Given the description of an element on the screen output the (x, y) to click on. 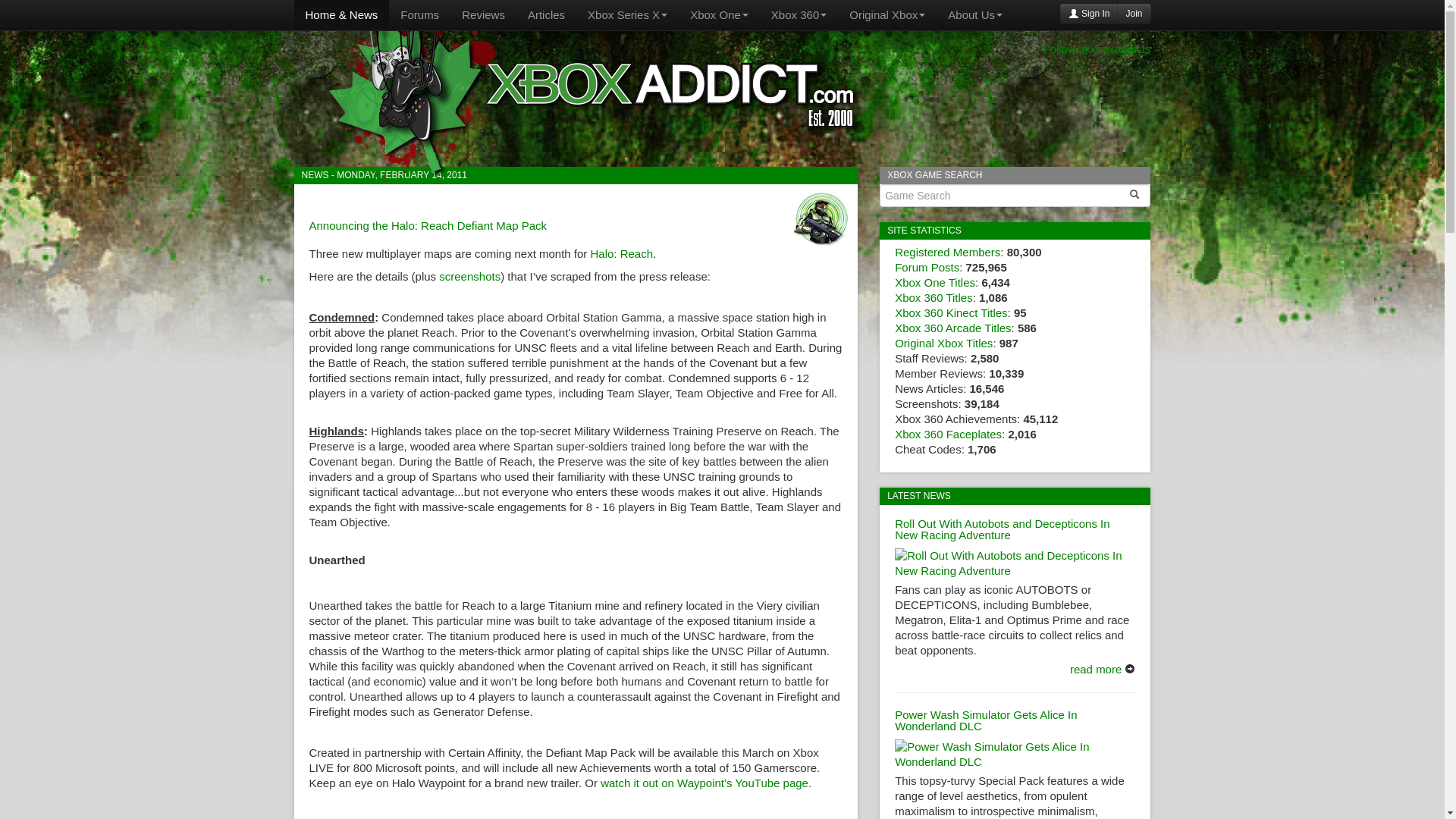
Articles (546, 15)
Forums (418, 15)
Join (1133, 13)
Xbox Series X (627, 15)
Original Xbox (887, 15)
Xbox 360 (799, 15)
Sign In (1088, 13)
About Us (974, 15)
Reviews (482, 15)
Xbox One (719, 15)
